Given the description of an element on the screen output the (x, y) to click on. 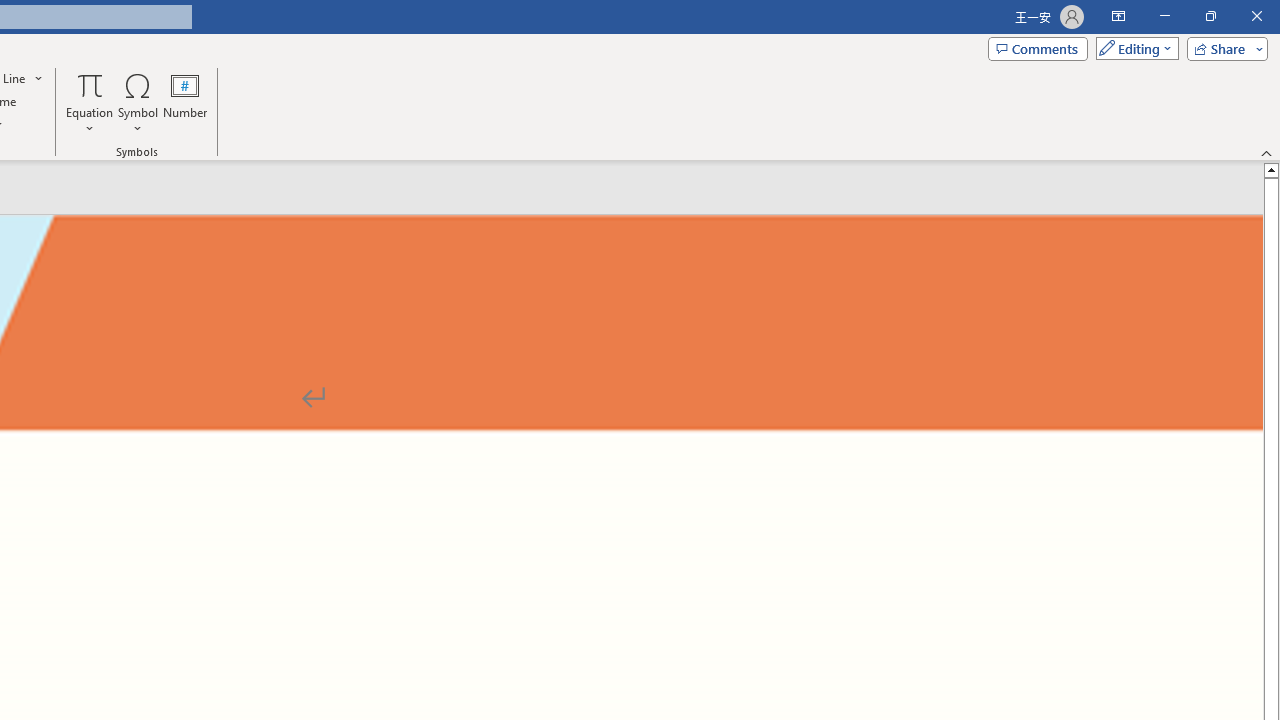
Number... (185, 102)
Equation (90, 102)
Mode (1133, 47)
Symbol (138, 102)
Line up (1271, 169)
Equation (90, 84)
